Given the description of an element on the screen output the (x, y) to click on. 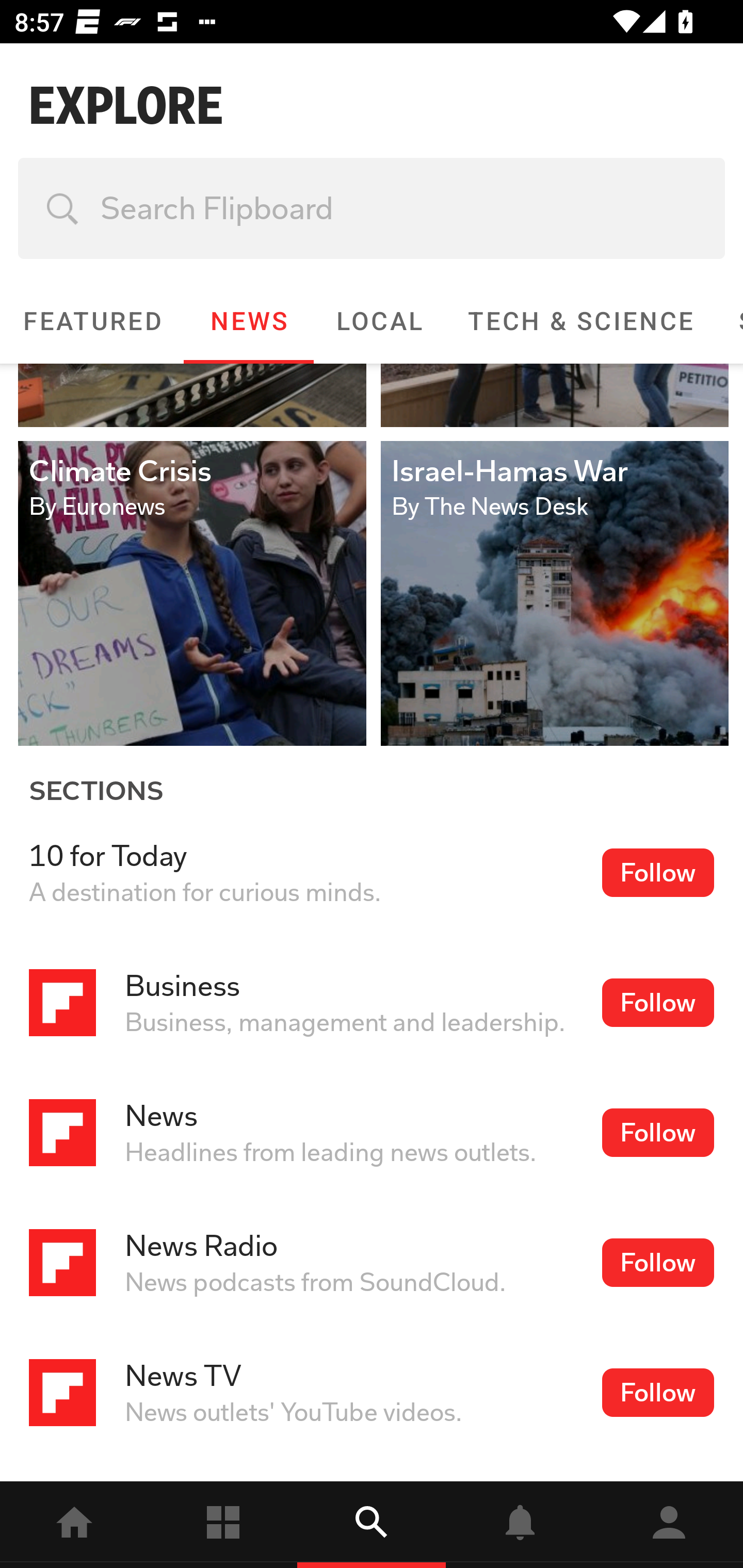
Search Flipboard (371, 208)
Featured FEATURED (91, 320)
Local LOCAL (379, 320)
Tech & Science TECH & SCIENCE (580, 320)
Follow (657, 872)
Follow (657, 1002)
News Headlines from leading news outlets. Follow (371, 1132)
Follow (657, 1132)
News Radio News podcasts from SoundCloud. Follow (371, 1262)
Follow (657, 1262)
News TV News outlets' YouTube videos. Follow (371, 1393)
Follow (657, 1392)
home (74, 1524)
Following (222, 1524)
explore (371, 1524)
Notifications (519, 1524)
Profile (668, 1524)
